Given the description of an element on the screen output the (x, y) to click on. 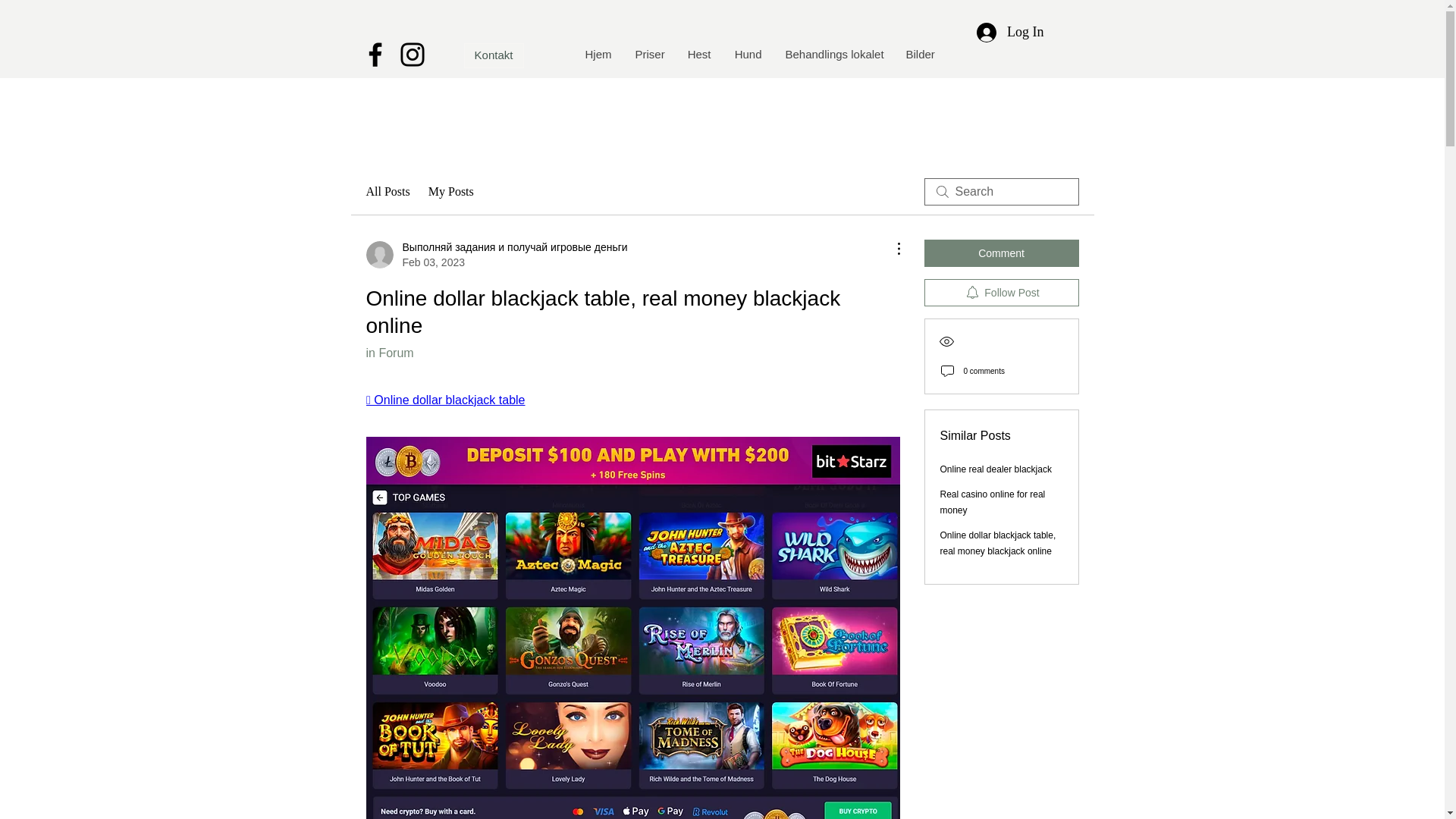
Follow Post (1000, 292)
Online real dealer blackjack (995, 469)
Hund (747, 54)
Log In (1010, 32)
Behandlings lokalet (833, 54)
Real casino online for real money (992, 501)
in Forum (389, 352)
All Posts (387, 191)
Hjem (598, 54)
Kontakt (494, 55)
Hest (698, 54)
Bilder (918, 54)
Comment (1000, 252)
Priser (649, 54)
My Posts (451, 191)
